Given the description of an element on the screen output the (x, y) to click on. 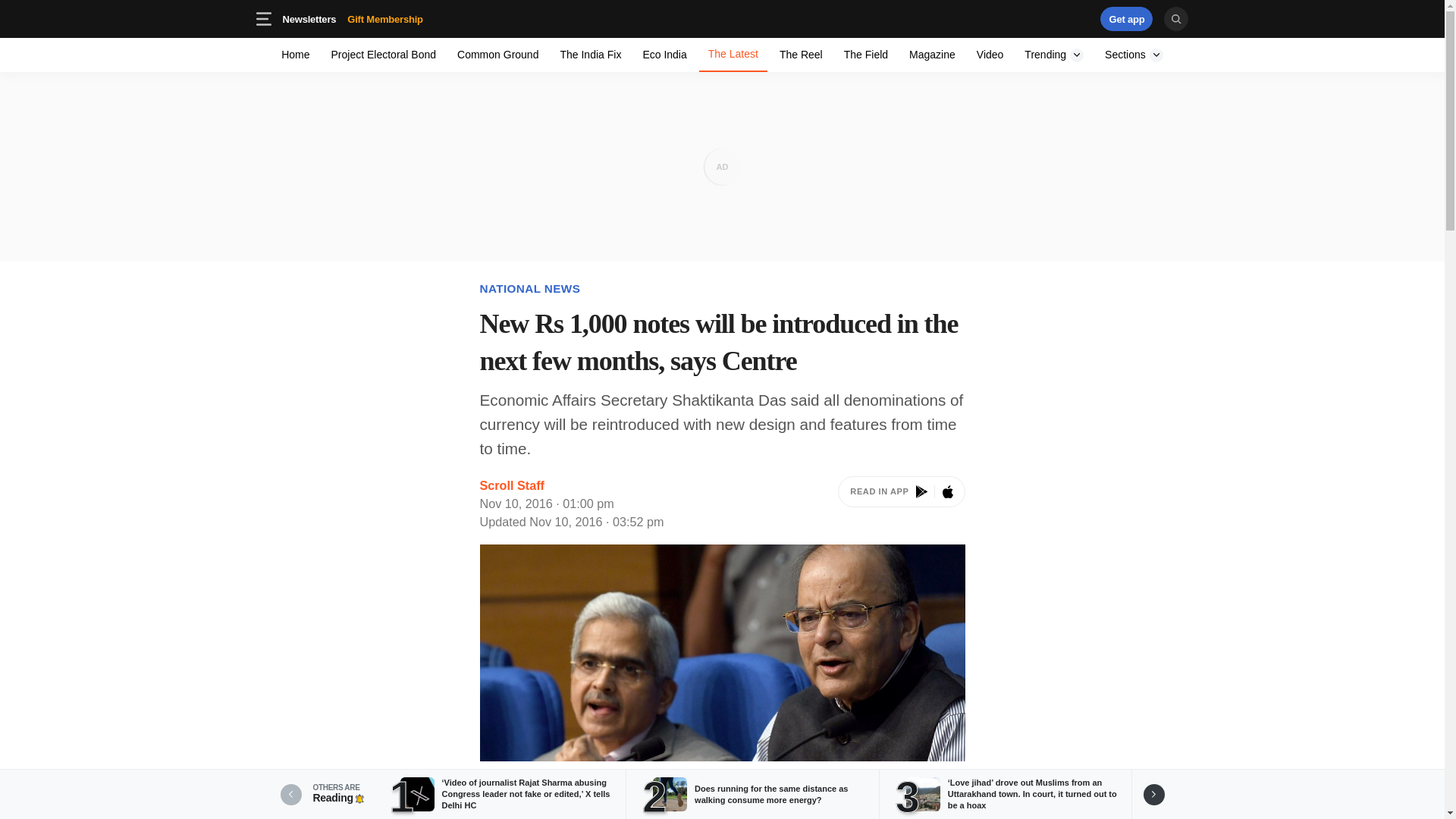
Trending (1053, 54)
Sections (721, 18)
The India Fix (1134, 54)
Trending (590, 54)
Common Ground (1053, 54)
Get app (497, 54)
Get app (409, 18)
The Reel (1126, 18)
Newsletters (352, 18)
Home (1035, 18)
The Latest (800, 54)
Magazine (309, 18)
